Given the description of an element on the screen output the (x, y) to click on. 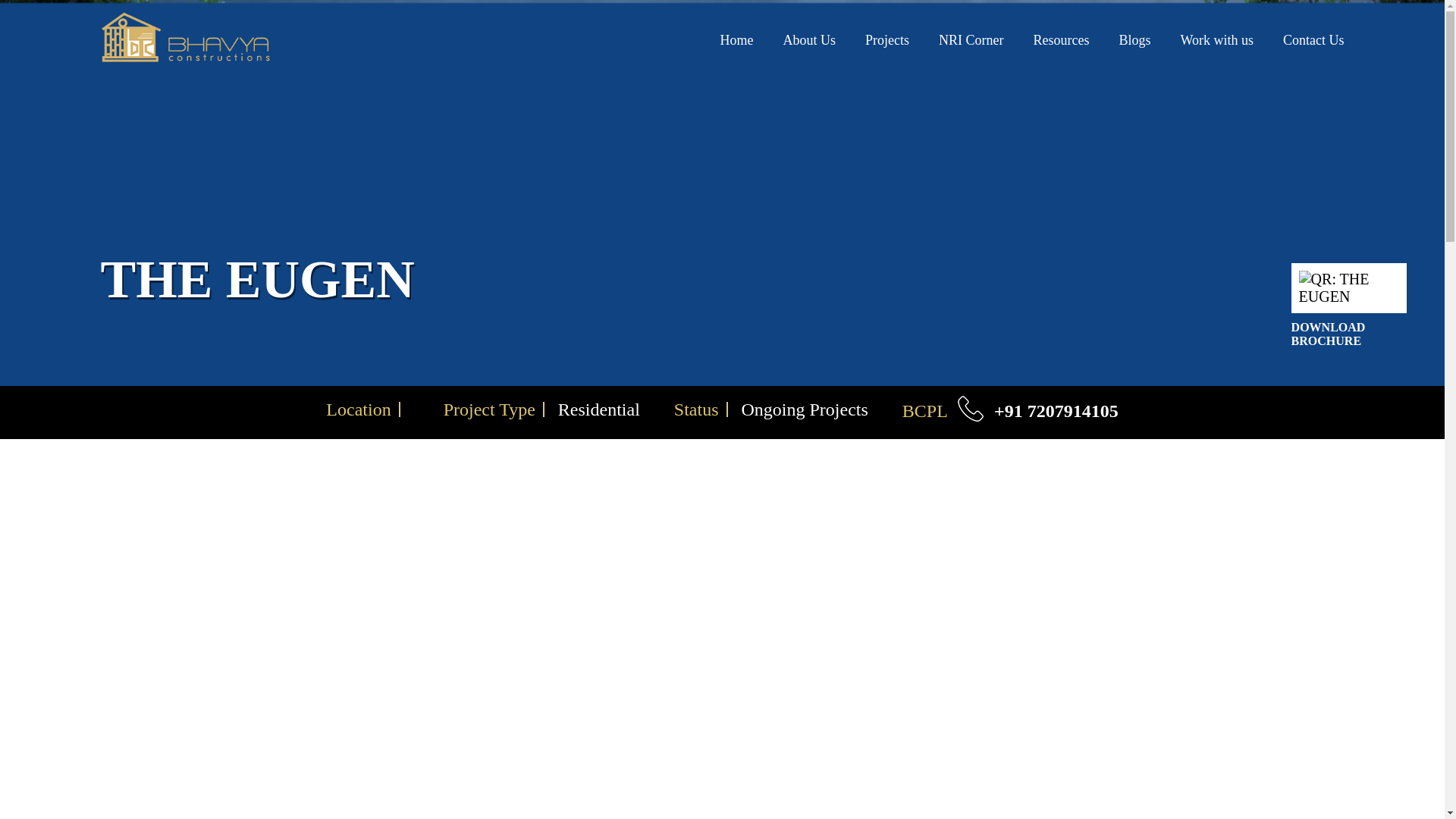
Home (735, 39)
Blogs (1134, 39)
Work with us (1216, 39)
Contact Us (1312, 39)
Projects (886, 39)
About Us (809, 39)
Resources (1060, 39)
NRI Corner (971, 39)
